Given the description of an element on the screen output the (x, y) to click on. 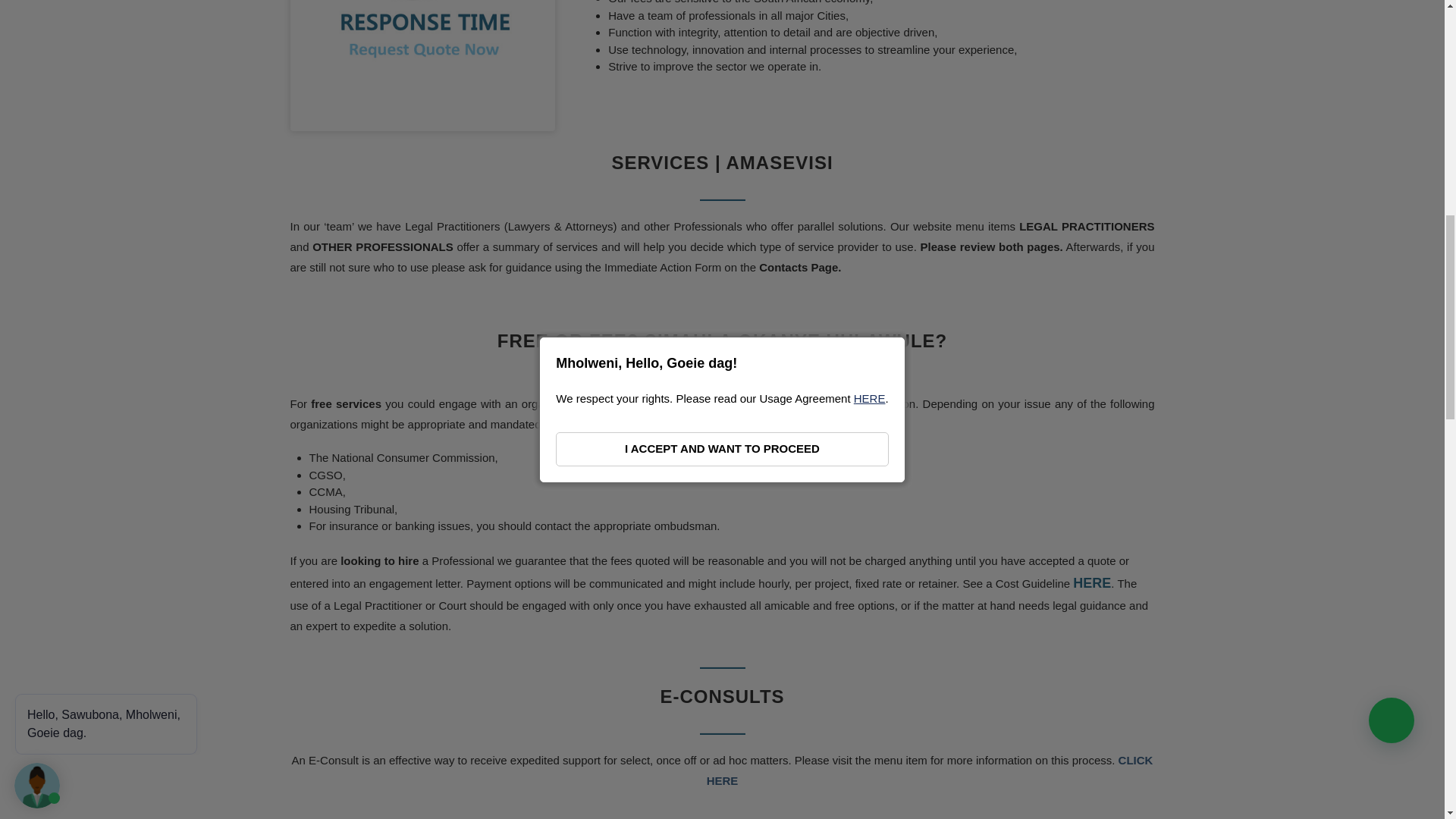
HERE (1091, 582)
CLICK HERE (929, 770)
